Given the description of an element on the screen output the (x, y) to click on. 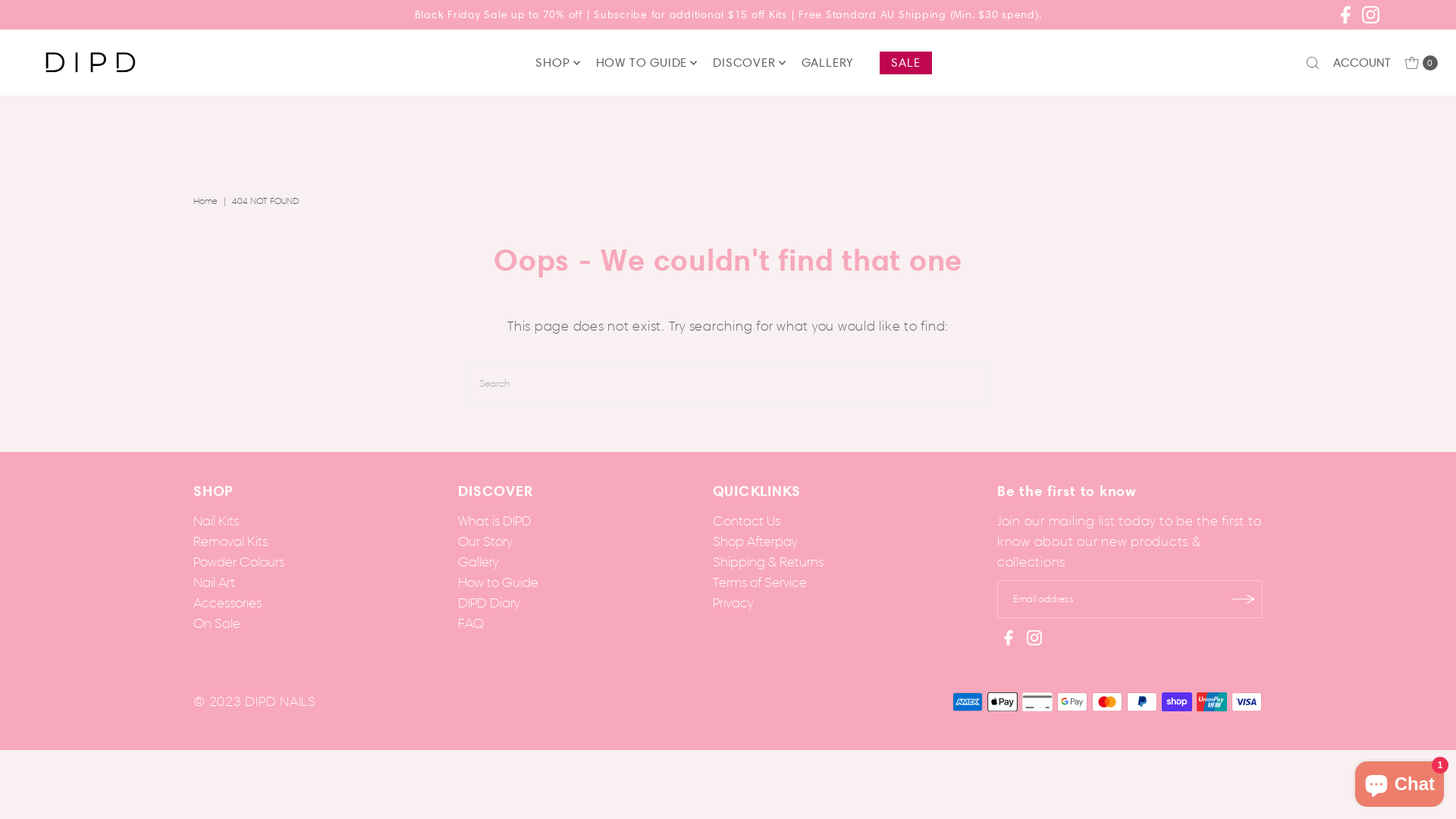
Nail Art Element type: text (214, 582)
FAQ Element type: text (470, 623)
Shipping & Returns Element type: text (767, 561)
Powder Colours Element type: text (238, 561)
Removal Kits Element type: text (230, 541)
How to Guide Element type: text (498, 582)
Accessories Element type: text (227, 602)
ACCOUNT Element type: text (1361, 62)
HOW TO GUIDE Element type: text (641, 62)
DIPD Diary Element type: text (488, 602)
Privacy Element type: text (732, 602)
Shopify online store chat Element type: hover (1399, 780)
0 Element type: text (1419, 62)
On Sale Element type: text (216, 623)
Nail Kits Element type: text (215, 520)
Home Element type: text (206, 201)
Gallery Element type: text (478, 561)
Shop Afterpay Element type: text (754, 541)
Terms of Service Element type: text (759, 582)
Contact Us Element type: text (746, 520)
What is DIPD Element type: text (494, 520)
SHOP Element type: text (552, 62)
Our Story Element type: text (484, 541)
SALE Element type: text (905, 62)
GALLERY Element type: text (828, 62)
DISCOVER Element type: text (743, 62)
